Given the description of an element on the screen output the (x, y) to click on. 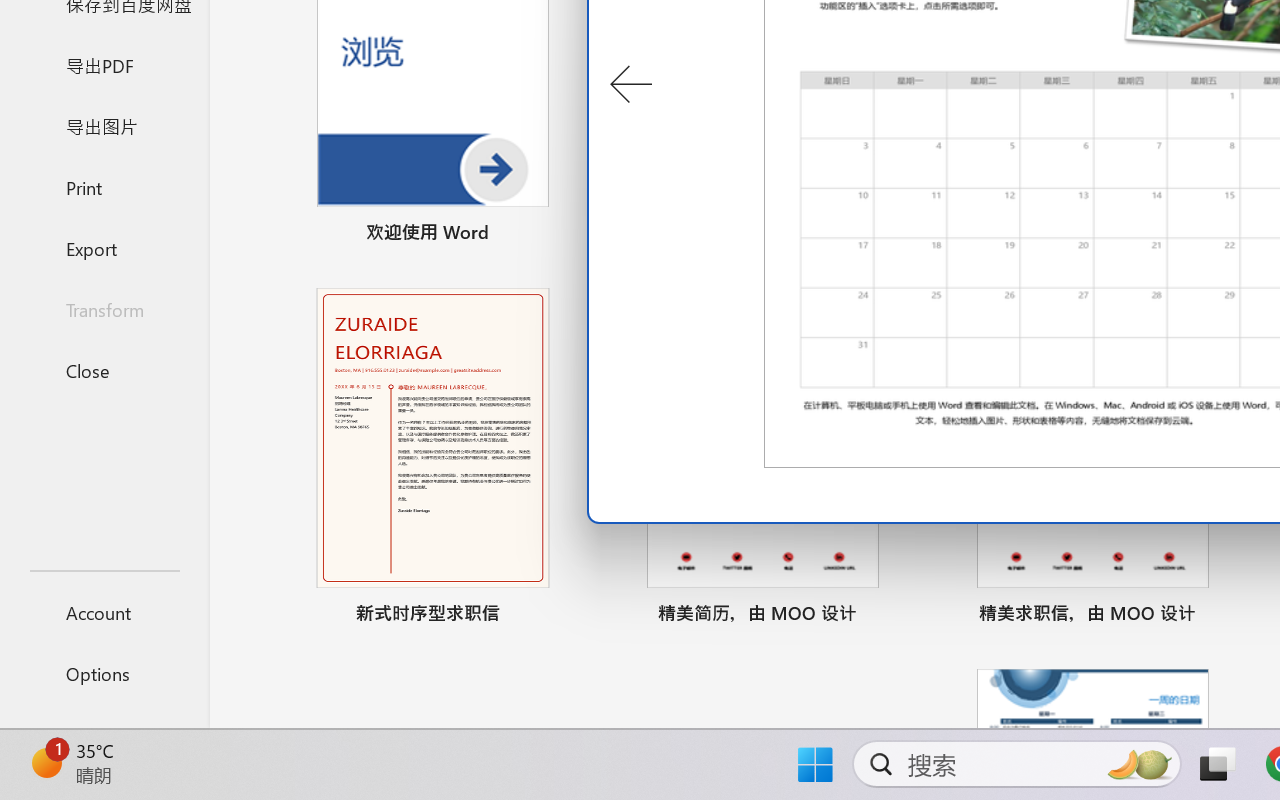
Export (104, 248)
Previous Template (630, 85)
Transform (104, 309)
Pin to list (1223, 616)
Print (104, 186)
